Given the description of an element on the screen output the (x, y) to click on. 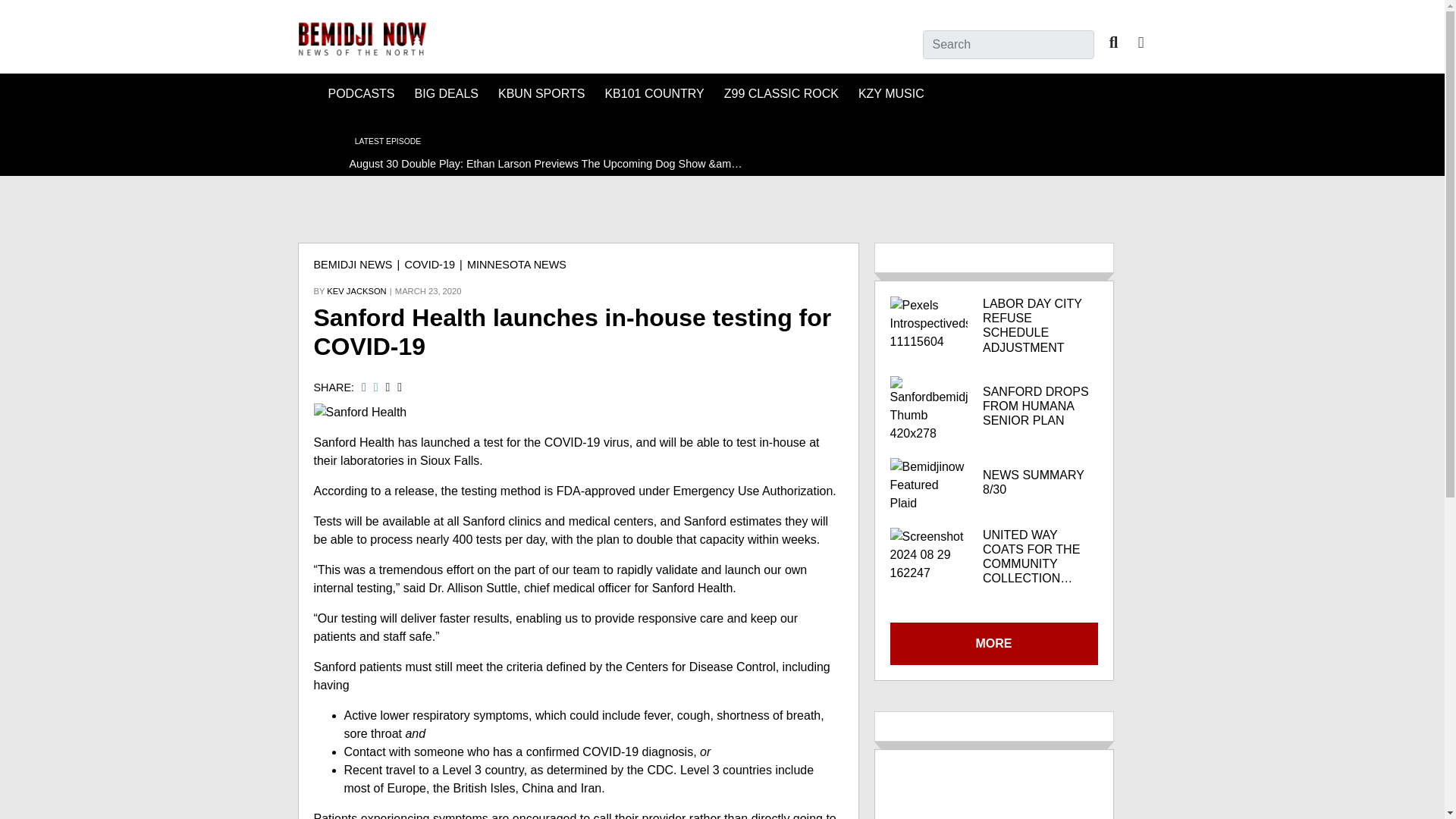
Launch player in new window... (523, 146)
Big Deals (446, 93)
KB101 Country (654, 93)
KBUN Sports (541, 93)
Launch player in new window... (312, 144)
KBUN SPORTS (541, 93)
Z99 CLASSIC ROCK (780, 93)
COVID-19 (429, 264)
Z99 Classic Rock (780, 93)
PODCASTS (360, 93)
